Given the description of an element on the screen output the (x, y) to click on. 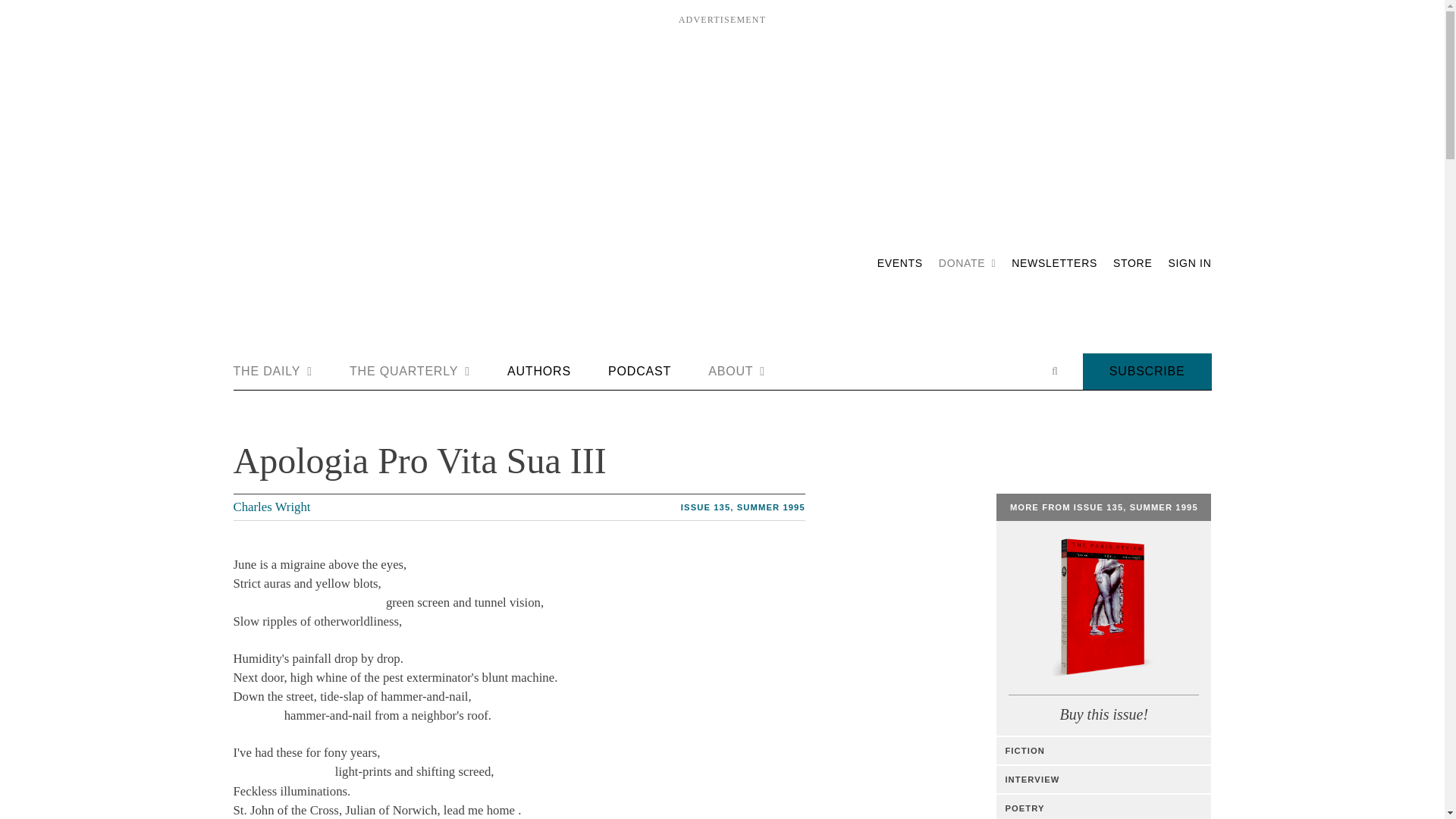
Open search (1054, 371)
THE DAILY (272, 371)
THE QUARTERLY (409, 371)
